Given the description of an element on the screen output the (x, y) to click on. 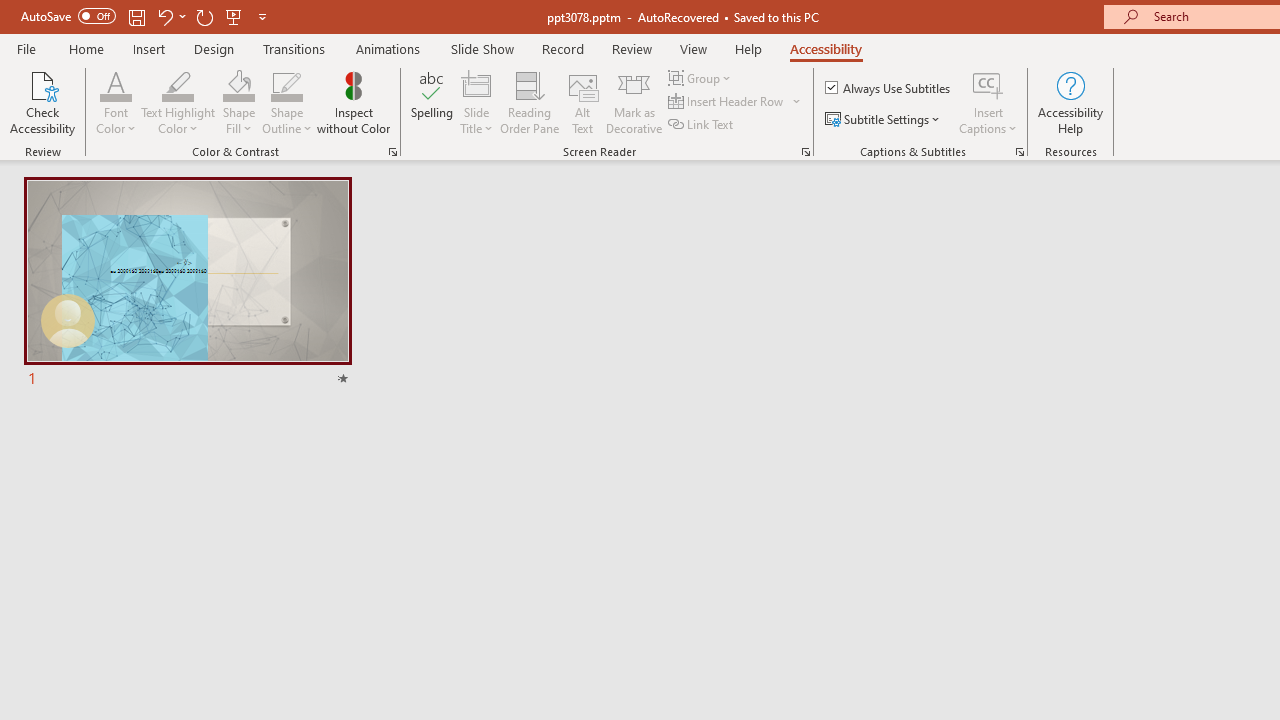
Color & Contrast (392, 151)
Always Use Subtitles (889, 87)
Accessibility Help (1070, 102)
